Given the description of an element on the screen output the (x, y) to click on. 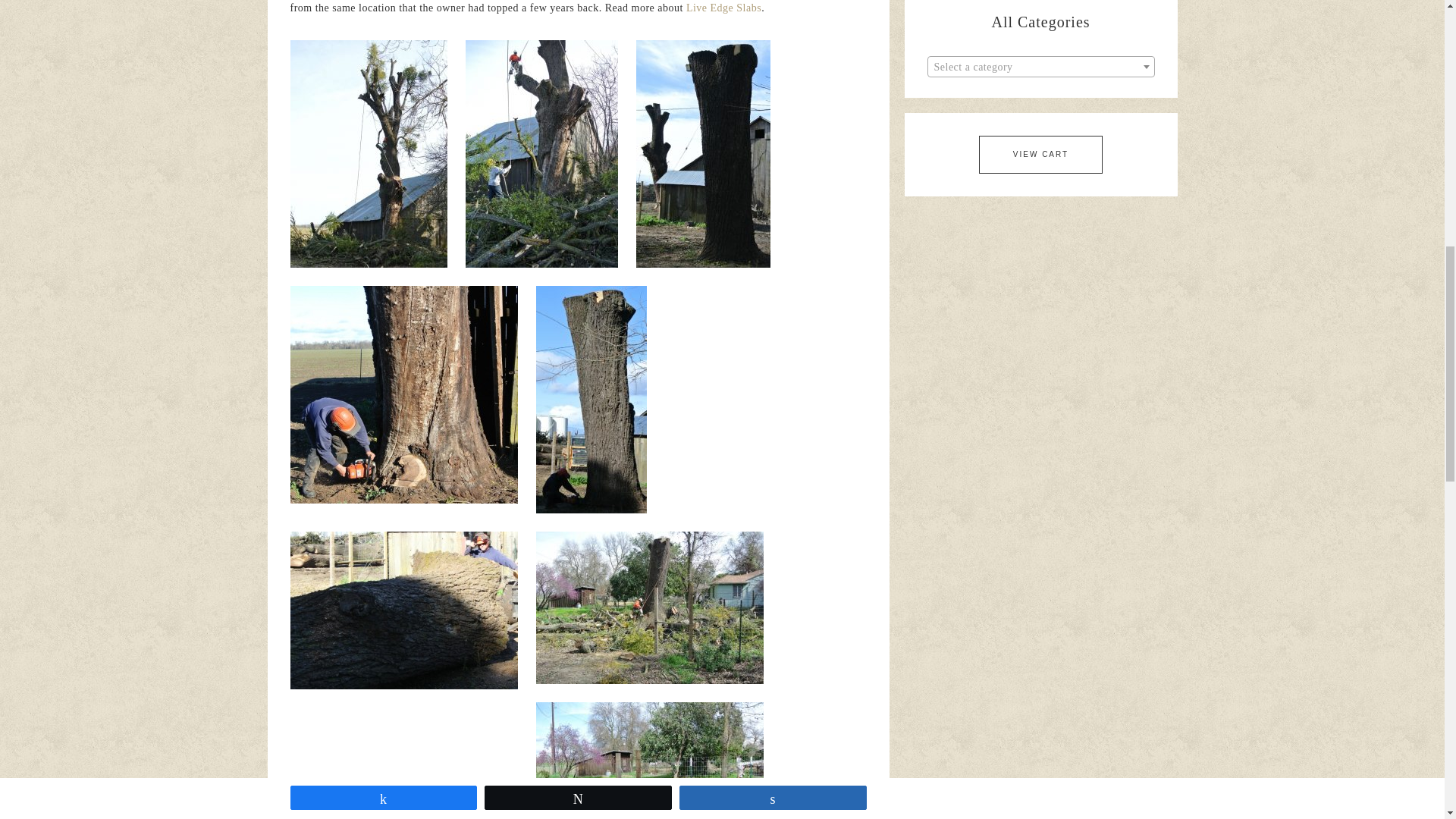
Live Edge Slabs (723, 7)
Live Edge Slabs (723, 7)
